Given the description of an element on the screen output the (x, y) to click on. 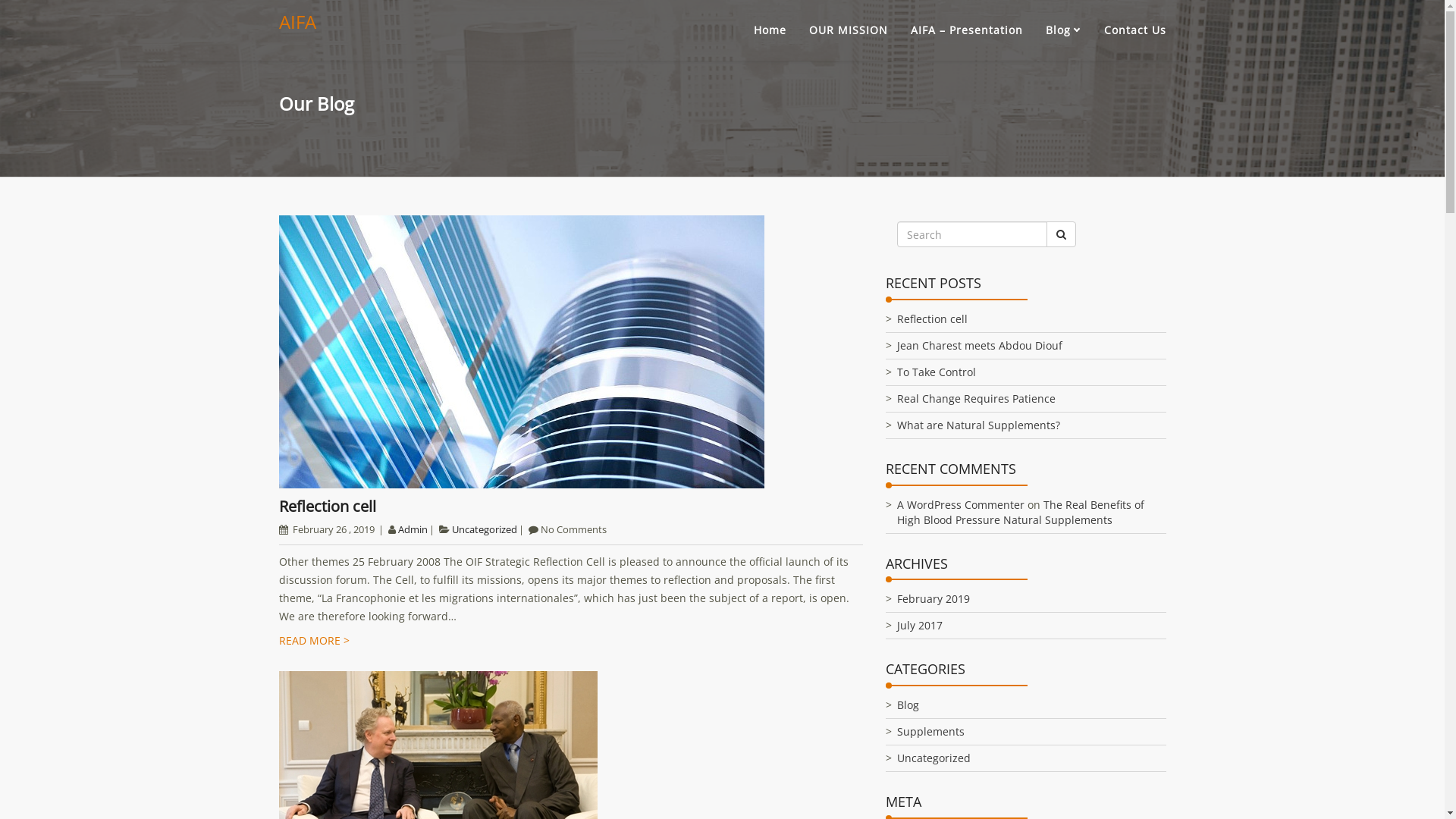
The Real Benefits of High Blood Pressure Natural Supplements Element type: text (1019, 512)
Real Change Requires Patience Element type: text (975, 398)
What are Natural Supplements? Element type: text (977, 424)
A WordPress Commenter Element type: text (959, 504)
Jean Charest meets Abdou Diouf Element type: text (978, 345)
Supplements Element type: text (929, 731)
Admin Element type: text (411, 529)
Blog Element type: text (907, 704)
February 2019 Element type: text (932, 598)
Contact Us Element type: text (1135, 30)
Uncategorized Element type: text (932, 757)
AIFA Element type: text (297, 21)
OUR MISSION Element type: text (847, 30)
To Take Control Element type: text (935, 371)
Home Element type: text (769, 30)
READ MORE > Element type: text (314, 640)
Uncategorized Element type: text (484, 529)
Reflection cell Element type: text (327, 506)
Reflection cell Element type: text (931, 318)
July 2017 Element type: text (918, 625)
Blog Element type: text (1062, 30)
